Given the description of an element on the screen output the (x, y) to click on. 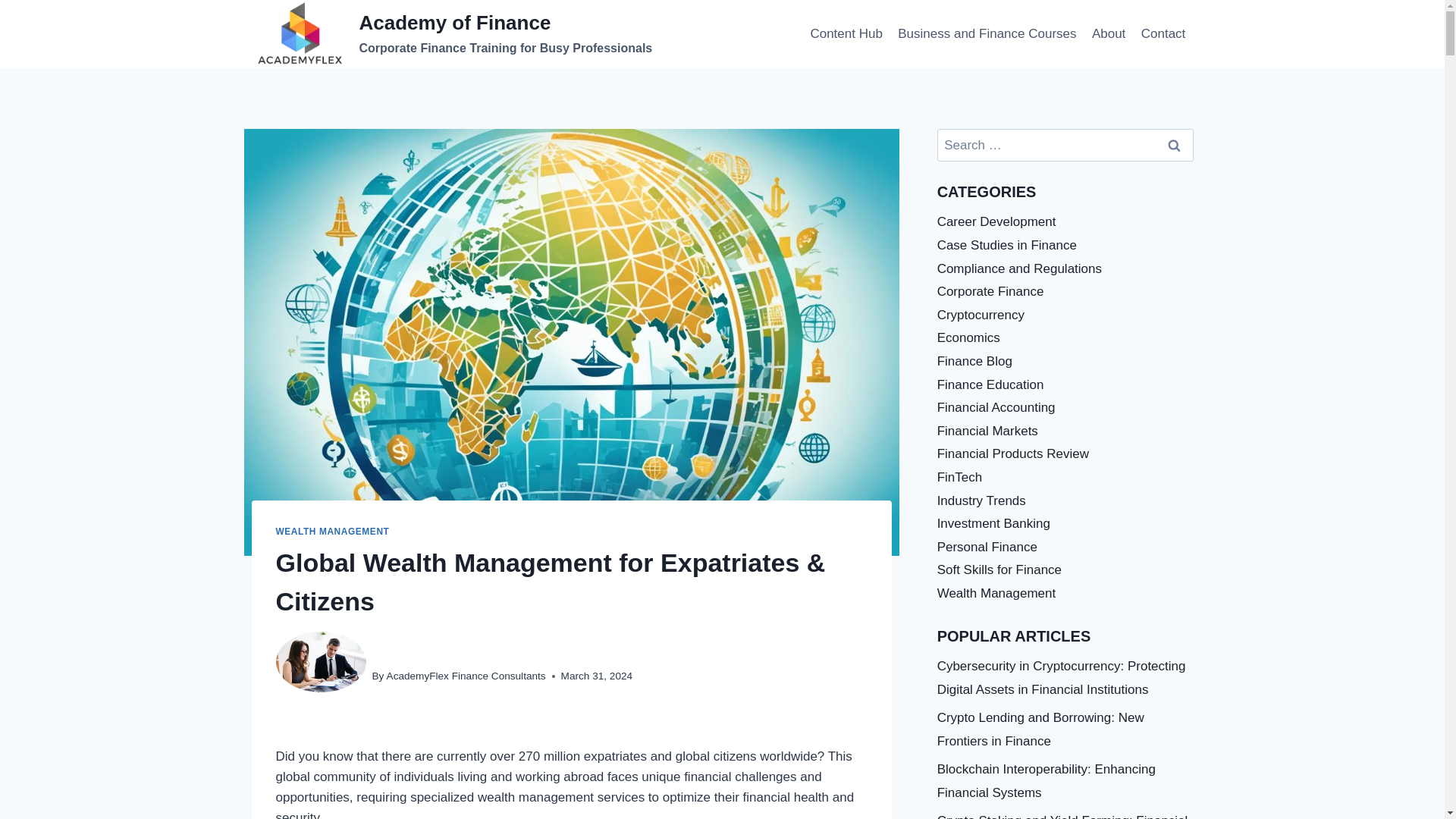
Search (1174, 144)
Content Hub (845, 33)
Business and Finance Courses (986, 33)
WEALTH MANAGEMENT (333, 531)
AcademyFlex Finance Consultants (466, 675)
Search (1174, 144)
Contact (1163, 33)
About (1109, 33)
